Given the description of an element on the screen output the (x, y) to click on. 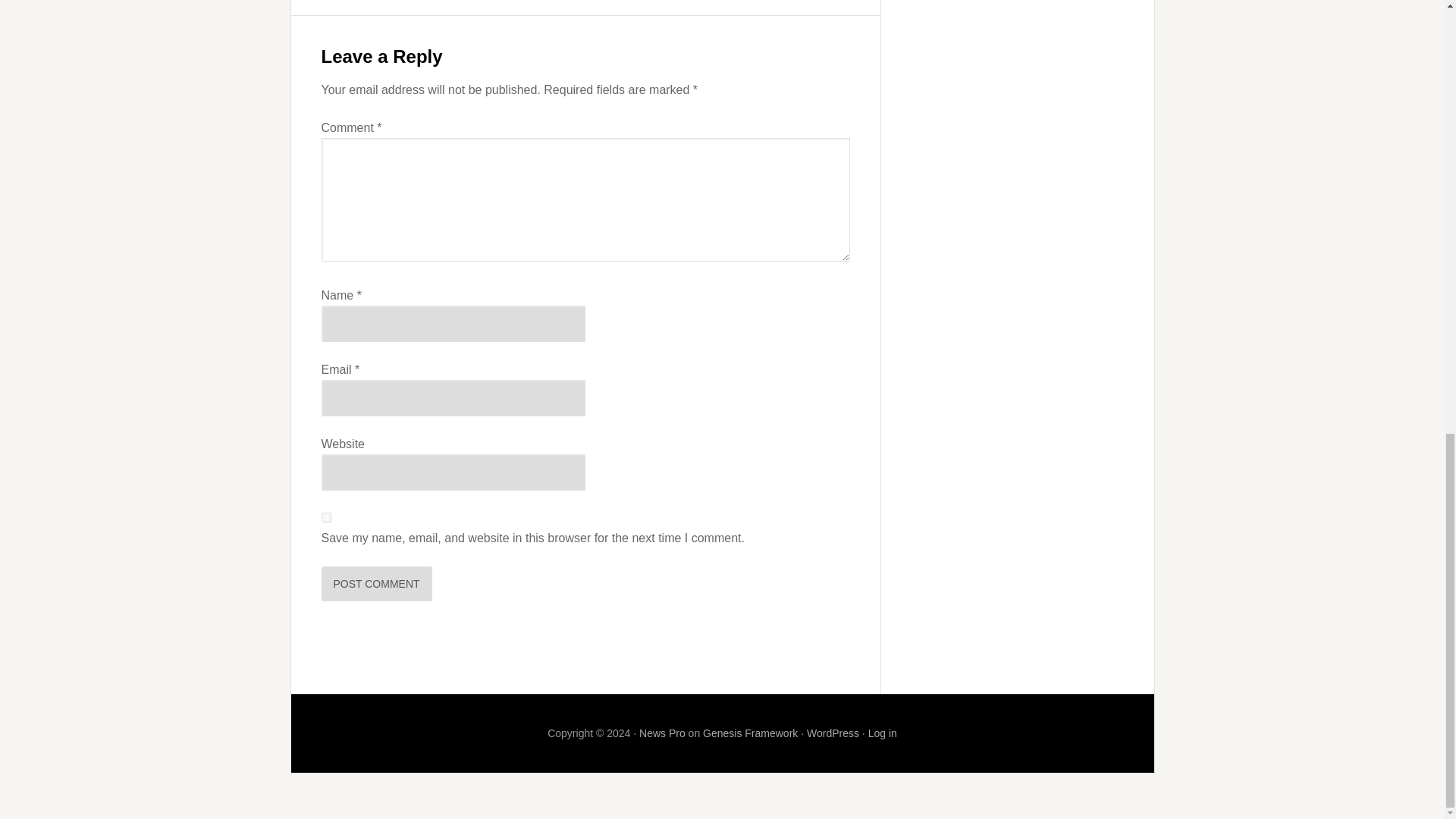
Genesis Framework (750, 733)
News Pro (662, 733)
Log in (881, 733)
Post Comment (376, 583)
yes (326, 517)
Post Comment (376, 583)
WordPress (832, 733)
